Given the description of an element on the screen output the (x, y) to click on. 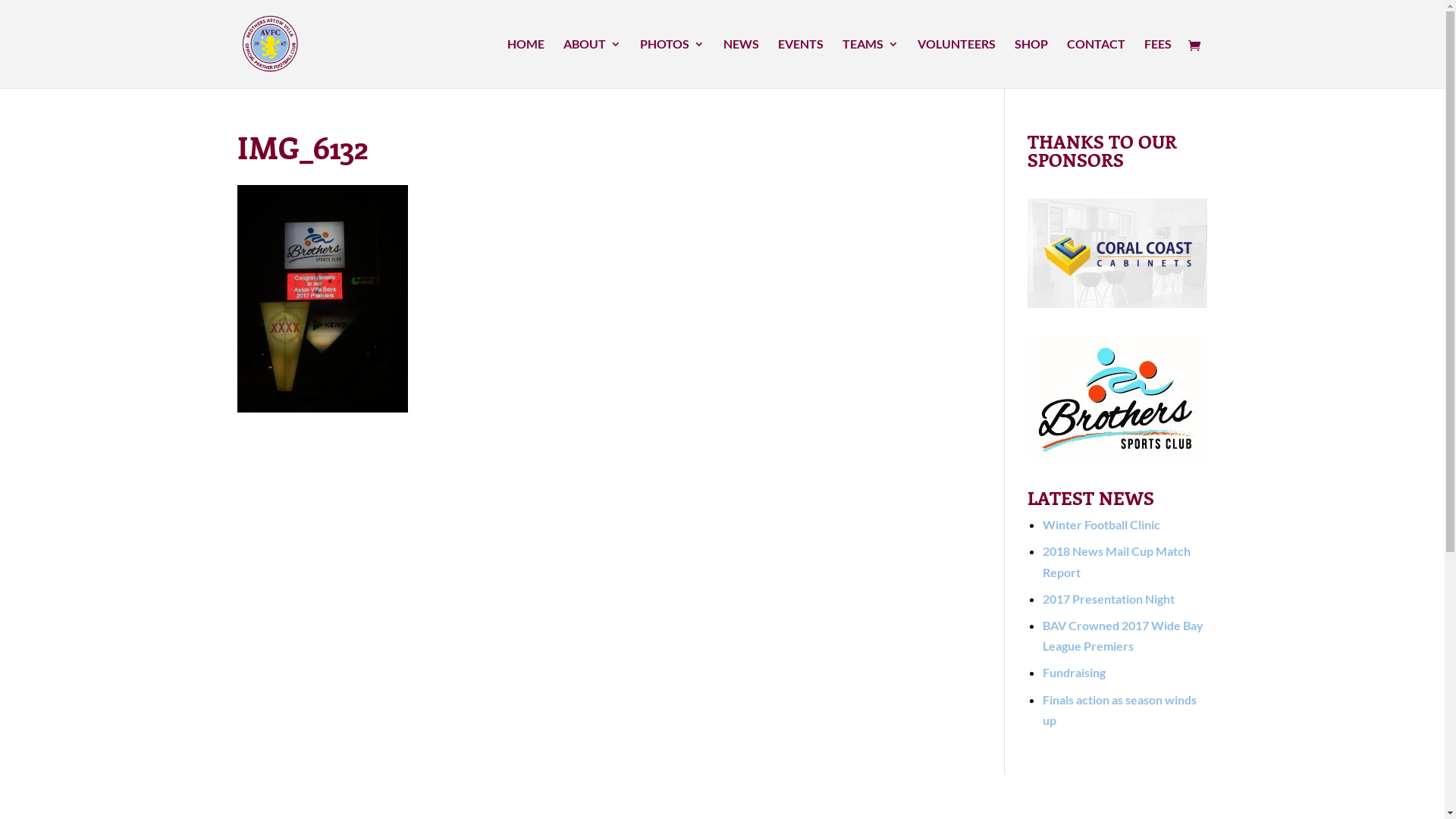
HOME Element type: text (524, 62)
NEWS Element type: text (741, 62)
Finals action as season winds up Element type: text (1119, 709)
FEES Element type: text (1156, 62)
Winter Football Clinic Element type: text (1101, 524)
EVENTS Element type: text (800, 62)
VOLUNTEERS Element type: text (956, 62)
2017 Presentation Night Element type: text (1108, 598)
ABOUT Element type: text (591, 62)
2018 News Mail Cup Match Report Element type: text (1116, 560)
Fundraising Element type: text (1073, 672)
TEAMS Element type: text (869, 62)
SHOP Element type: text (1031, 62)
BAV Crowned 2017 Wide Bay League Premiers Element type: text (1122, 635)
CONTACT Element type: text (1095, 62)
PHOTOS Element type: text (672, 62)
